Given the description of an element on the screen output the (x, y) to click on. 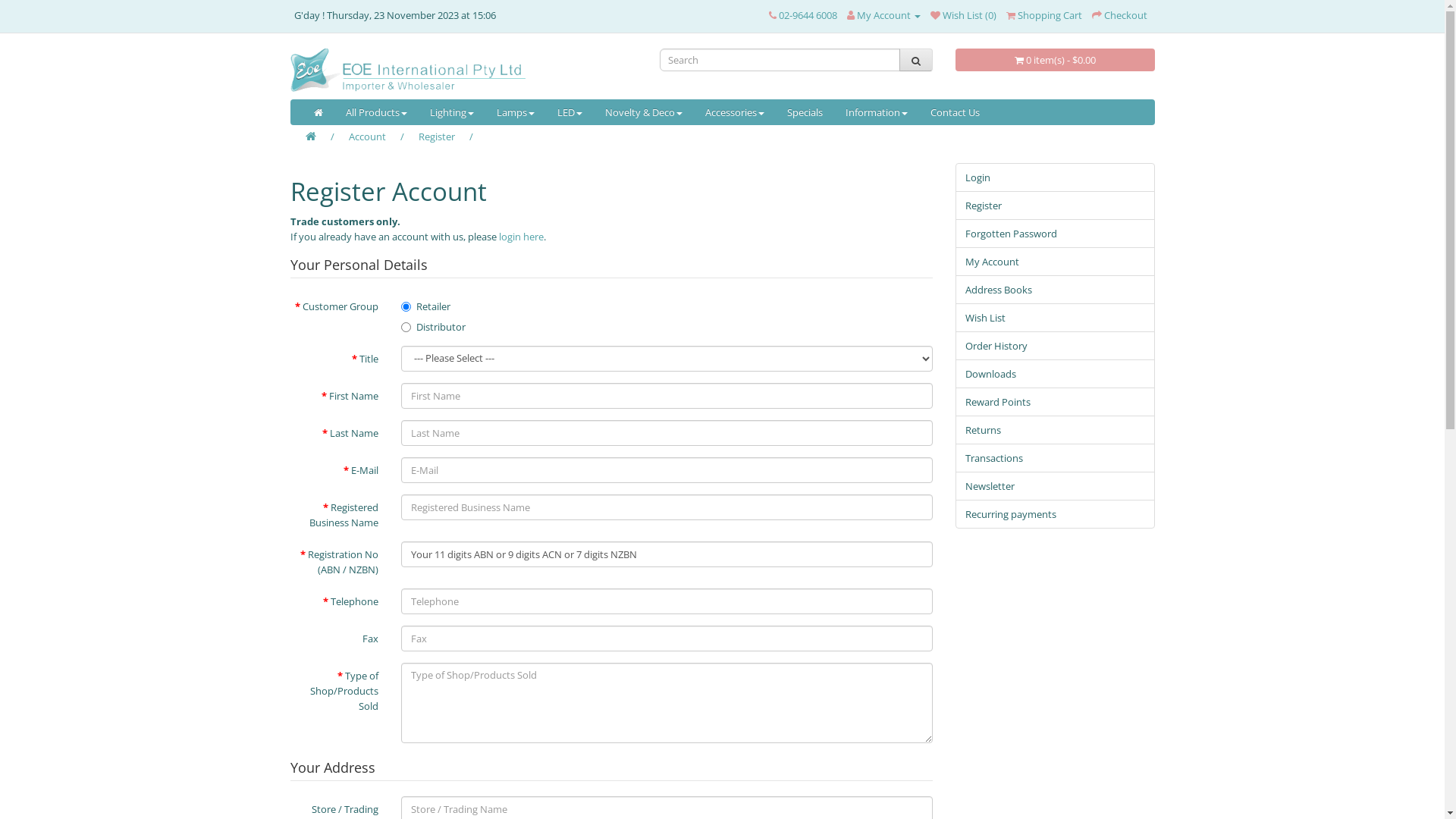
Shopping Cart Element type: text (1043, 14)
Transactions Element type: text (1054, 457)
Newsletter Element type: text (1054, 485)
Login Element type: text (1054, 177)
Lamps Element type: text (515, 112)
Checkout Element type: text (1119, 14)
Order History Element type: text (1054, 345)
02-9644 6008 Element type: text (802, 14)
LED Element type: text (569, 112)
Downloads Element type: text (1054, 373)
Wish List Element type: text (1054, 317)
My Account Element type: text (882, 14)
Forgotten Password Element type: text (1054, 233)
Information Element type: text (876, 112)
Recurring payments Element type: text (1054, 513)
login here Element type: text (520, 236)
Wish List (0) Element type: text (962, 14)
Register Element type: text (1054, 205)
Contact Us Element type: text (955, 112)
My Account Element type: text (1054, 261)
Register Element type: text (436, 136)
Accessories Element type: text (734, 112)
EOE International Element type: hover (463, 69)
Address Books Element type: text (1054, 289)
Returns Element type: text (1054, 429)
Reward Points Element type: text (1054, 401)
0 item(s) - $0.00 Element type: text (1054, 59)
All Products Element type: text (375, 112)
Specials Element type: text (804, 112)
Novelty & Deco Element type: text (643, 112)
Lighting Element type: text (451, 112)
Account Element type: text (366, 136)
